Given the description of an element on the screen output the (x, y) to click on. 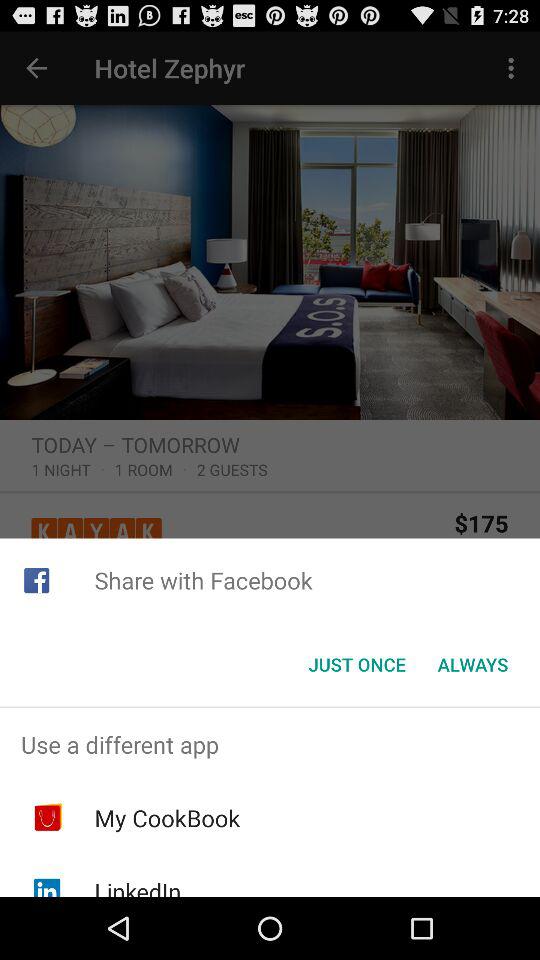
launch icon above my cookbook icon (270, 744)
